Given the description of an element on the screen output the (x, y) to click on. 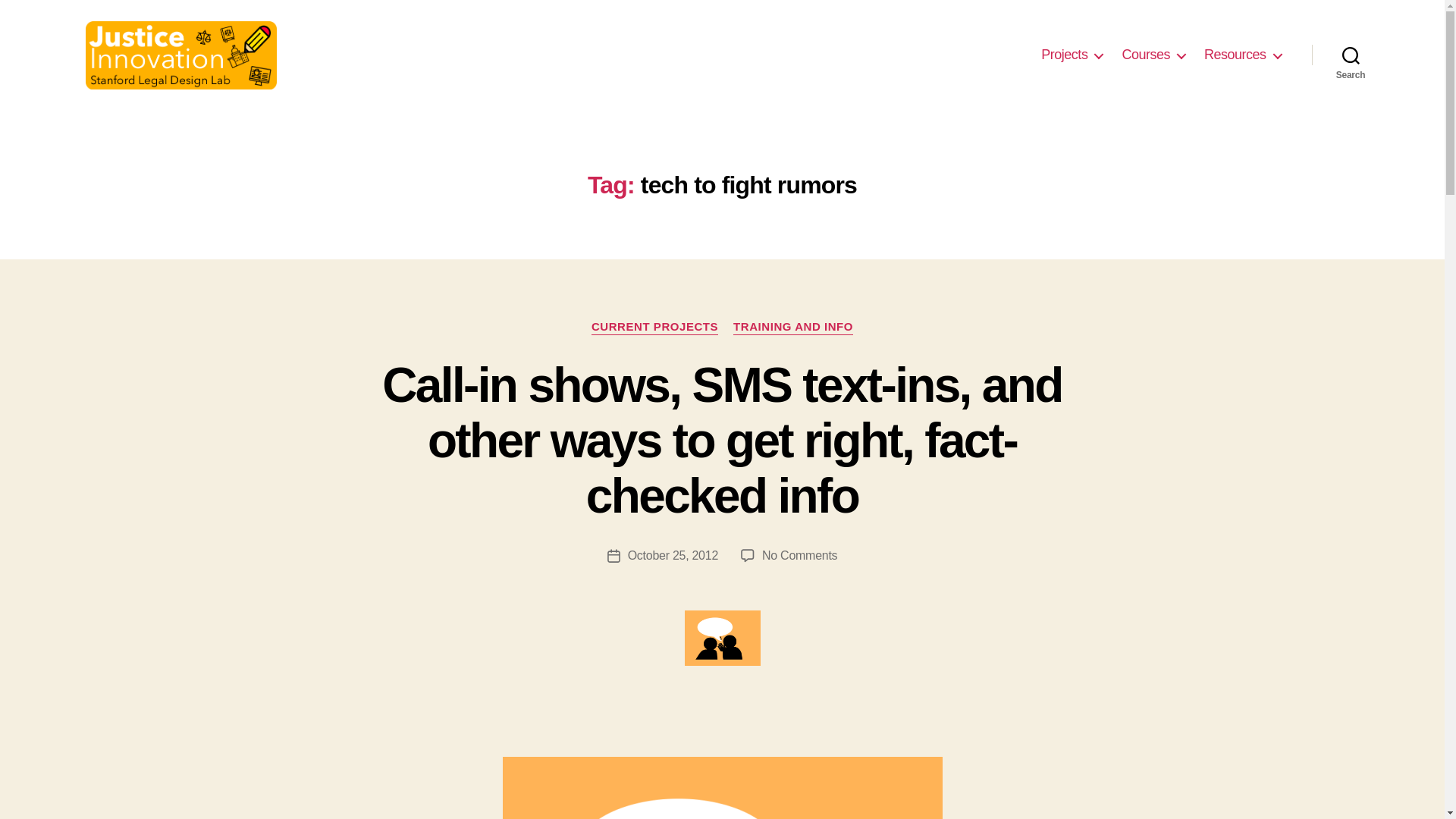
Courses (1153, 54)
Search (1350, 55)
Resources (1242, 54)
Projects (1071, 54)
